Given the description of an element on the screen output the (x, y) to click on. 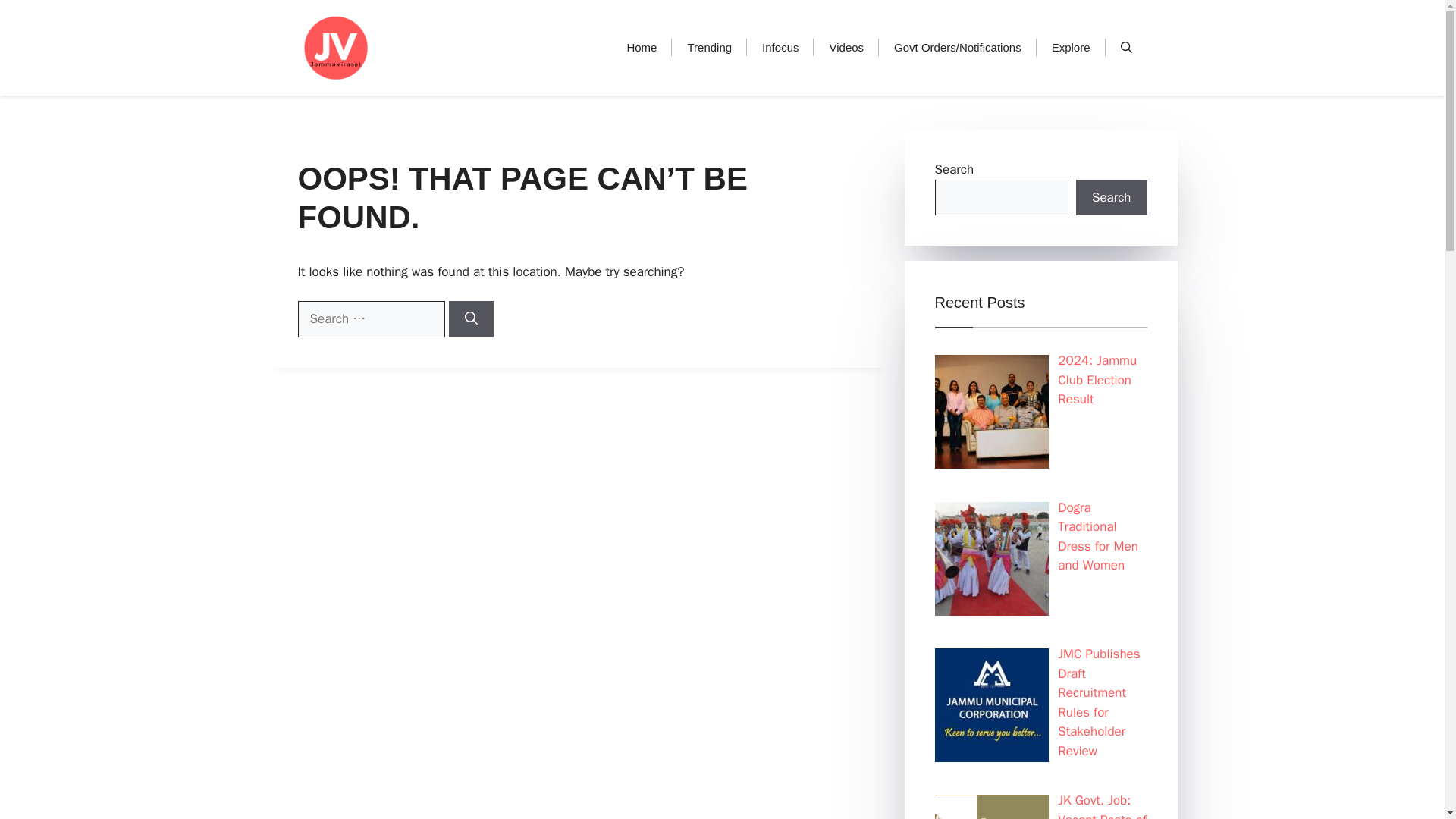
Dogra Traditional Dress for Men and Women (1098, 536)
Trending (708, 47)
Home (641, 47)
Explore (1070, 47)
Infocus (779, 47)
Search for: (370, 319)
Videos (846, 47)
Search (1111, 197)
2024: Jammu Club Election Result (1097, 379)
